Given the description of an element on the screen output the (x, y) to click on. 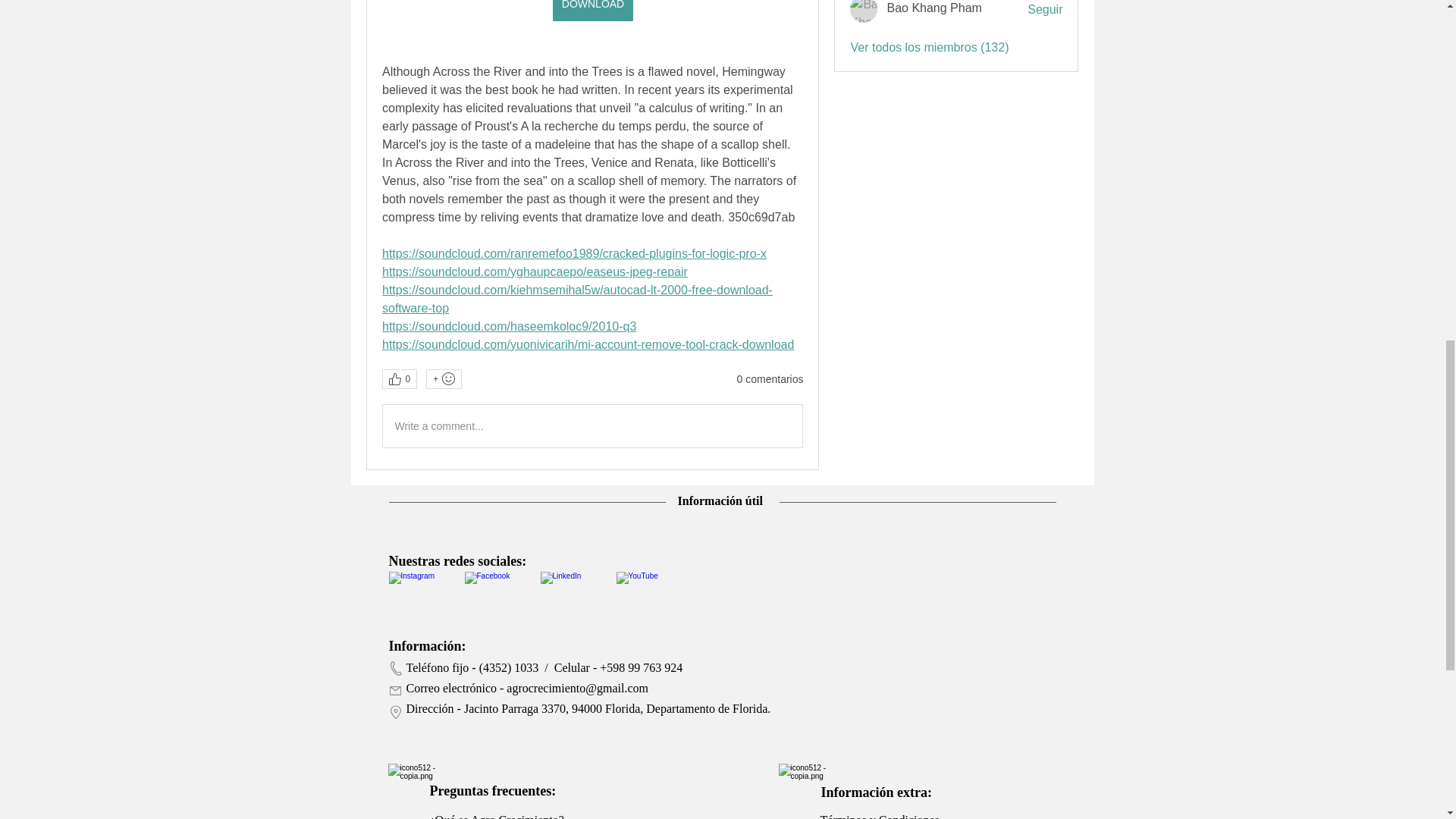
0 comentarios (769, 379)
Bao Khang Pham (863, 11)
Write a comment... (591, 425)
DOWNLOAD (591, 10)
Seguir (1044, 9)
